Given the description of an element on the screen output the (x, y) to click on. 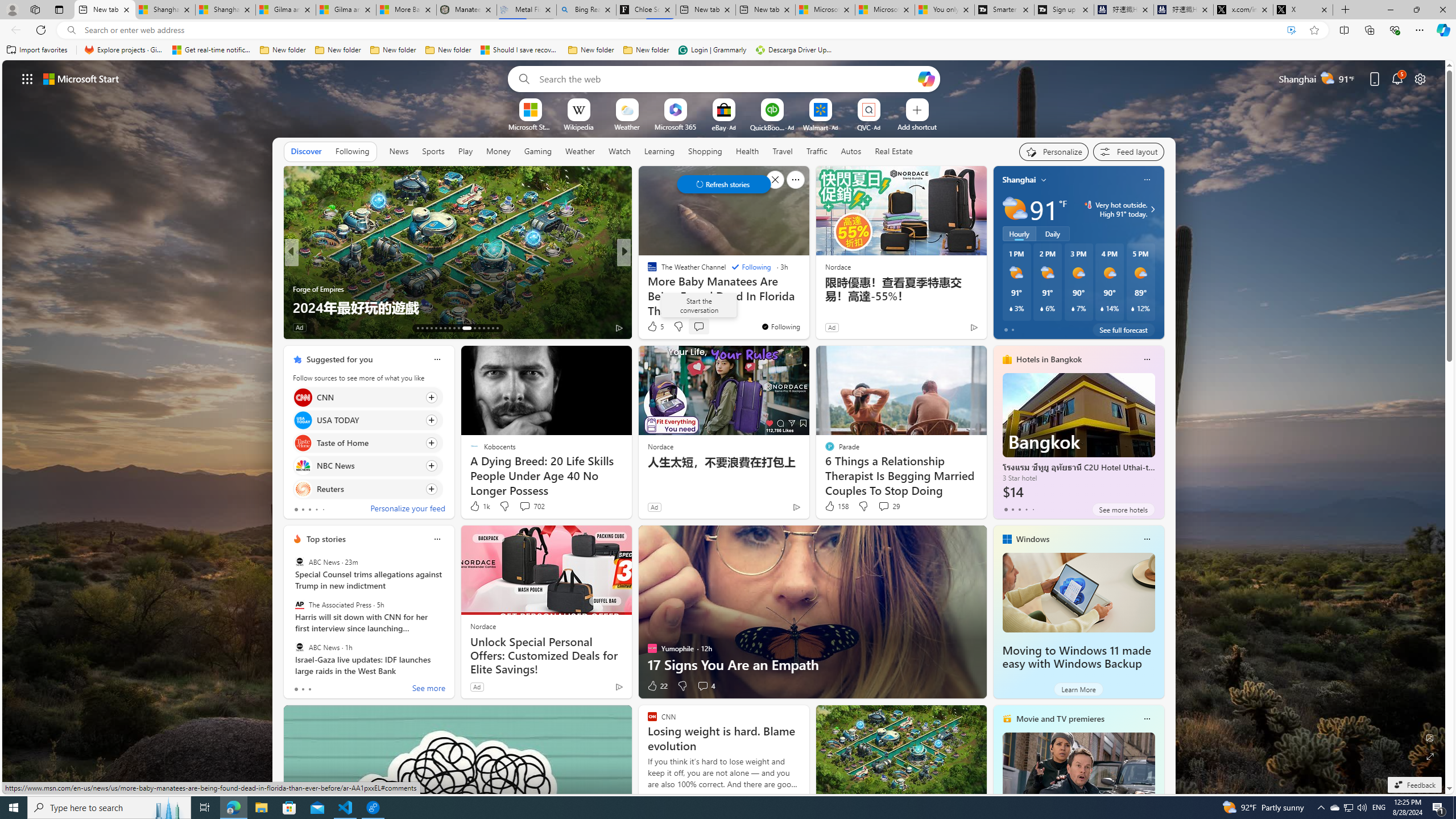
Autos (850, 151)
AutomationID: tab-20 (449, 328)
Enter your search term (726, 78)
Chloe Sorvino (646, 9)
Play (465, 151)
View comments 6 Comment (703, 327)
USA TODAY (302, 419)
Movie and TV premieres (1060, 718)
Notifications (1397, 78)
ABC News (299, 646)
View comments 5 Comment (703, 327)
